Given the description of an element on the screen output the (x, y) to click on. 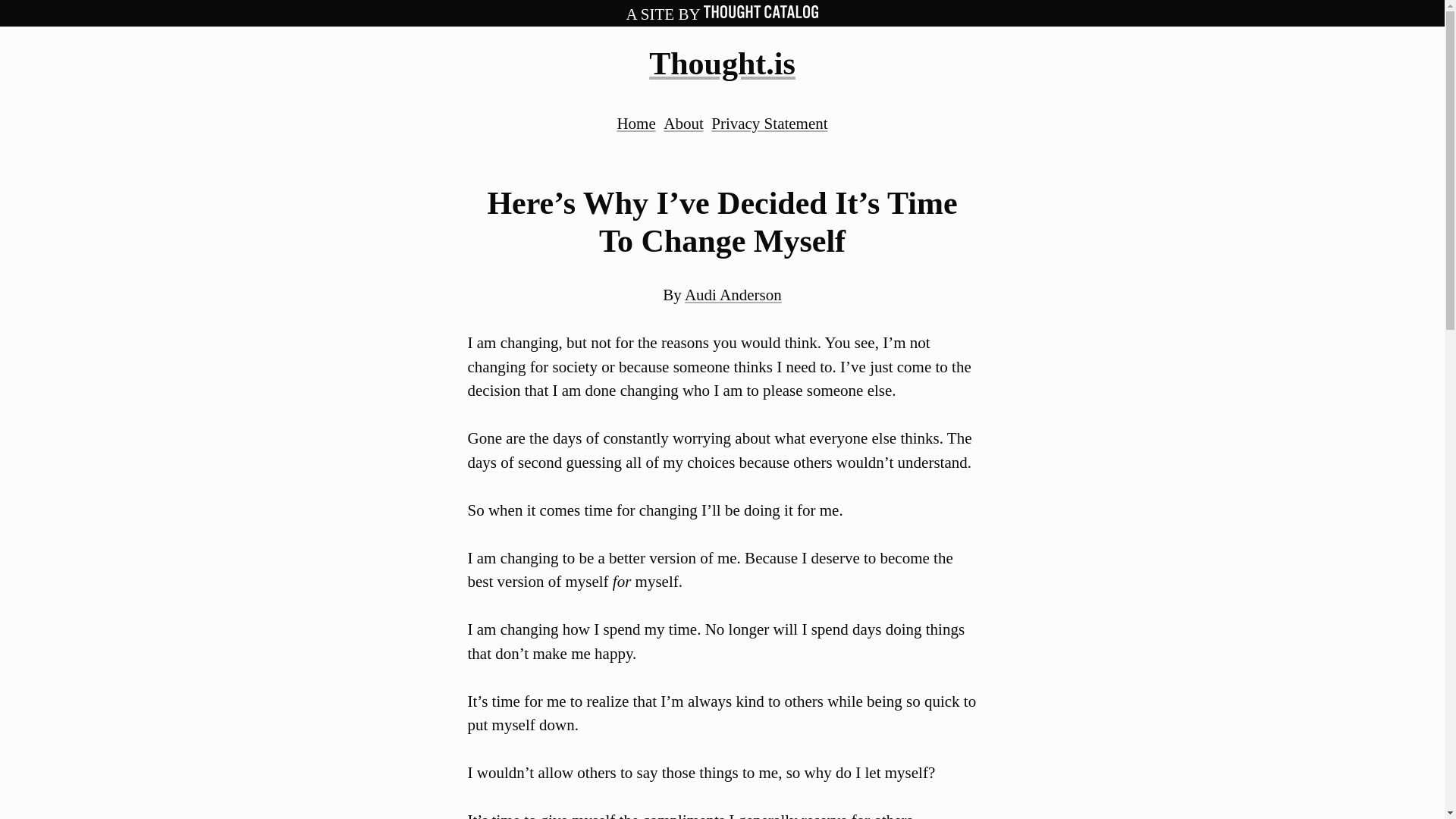
About (683, 123)
THOUGHT CATALOG (760, 11)
Home (635, 123)
THOUGHT CATALOG (760, 13)
Audi Anderson (732, 294)
Thought.is (721, 63)
Posts by Audi Anderson (732, 294)
Privacy Statement (769, 123)
